Given the description of an element on the screen output the (x, y) to click on. 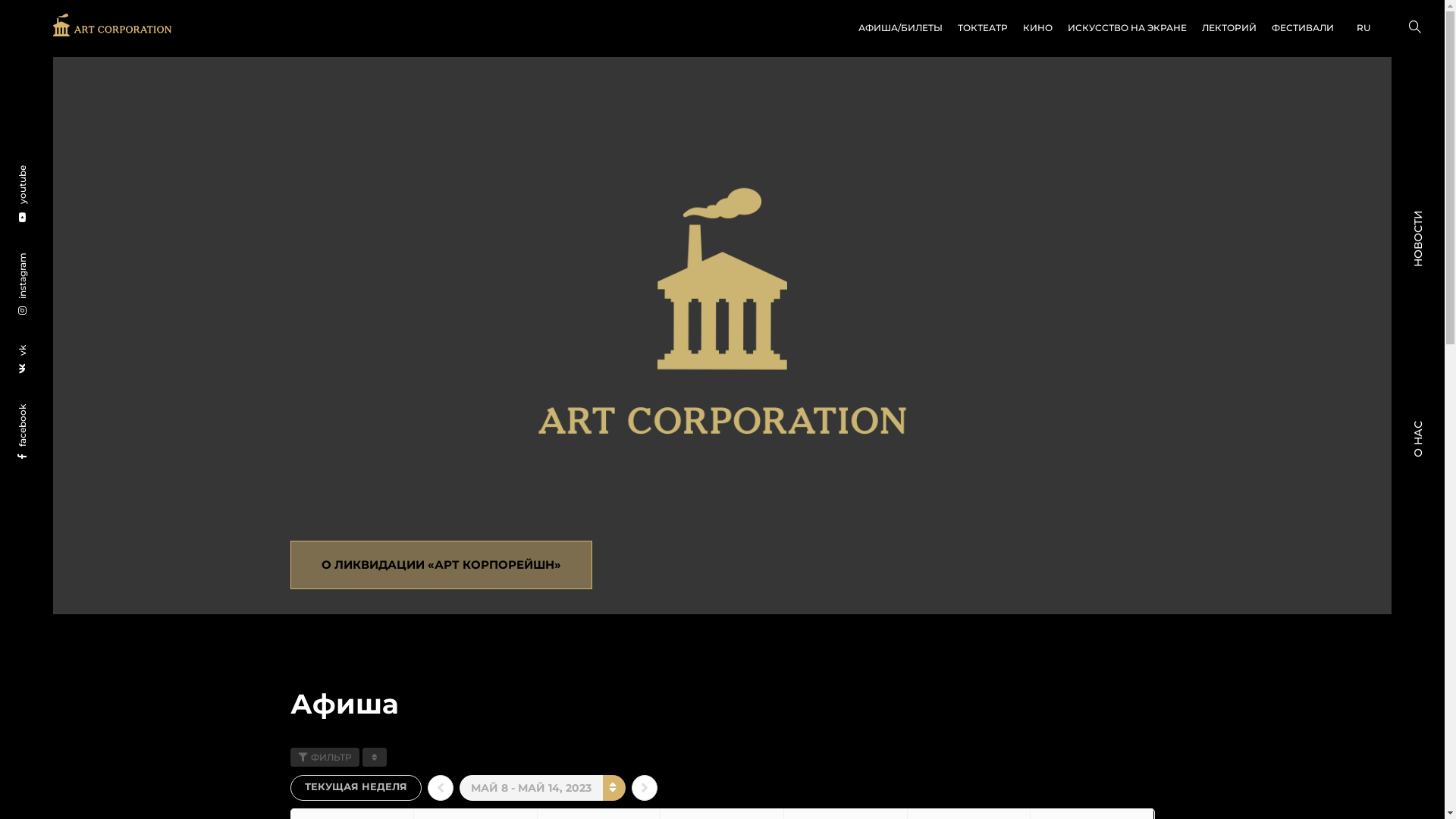
vk Element type: text (29, 351)
facebook Element type: text (42, 410)
instagram Element type: text (46, 259)
RU Element type: text (1363, 28)
youtube Element type: text (43, 171)
